Given the description of an element on the screen output the (x, y) to click on. 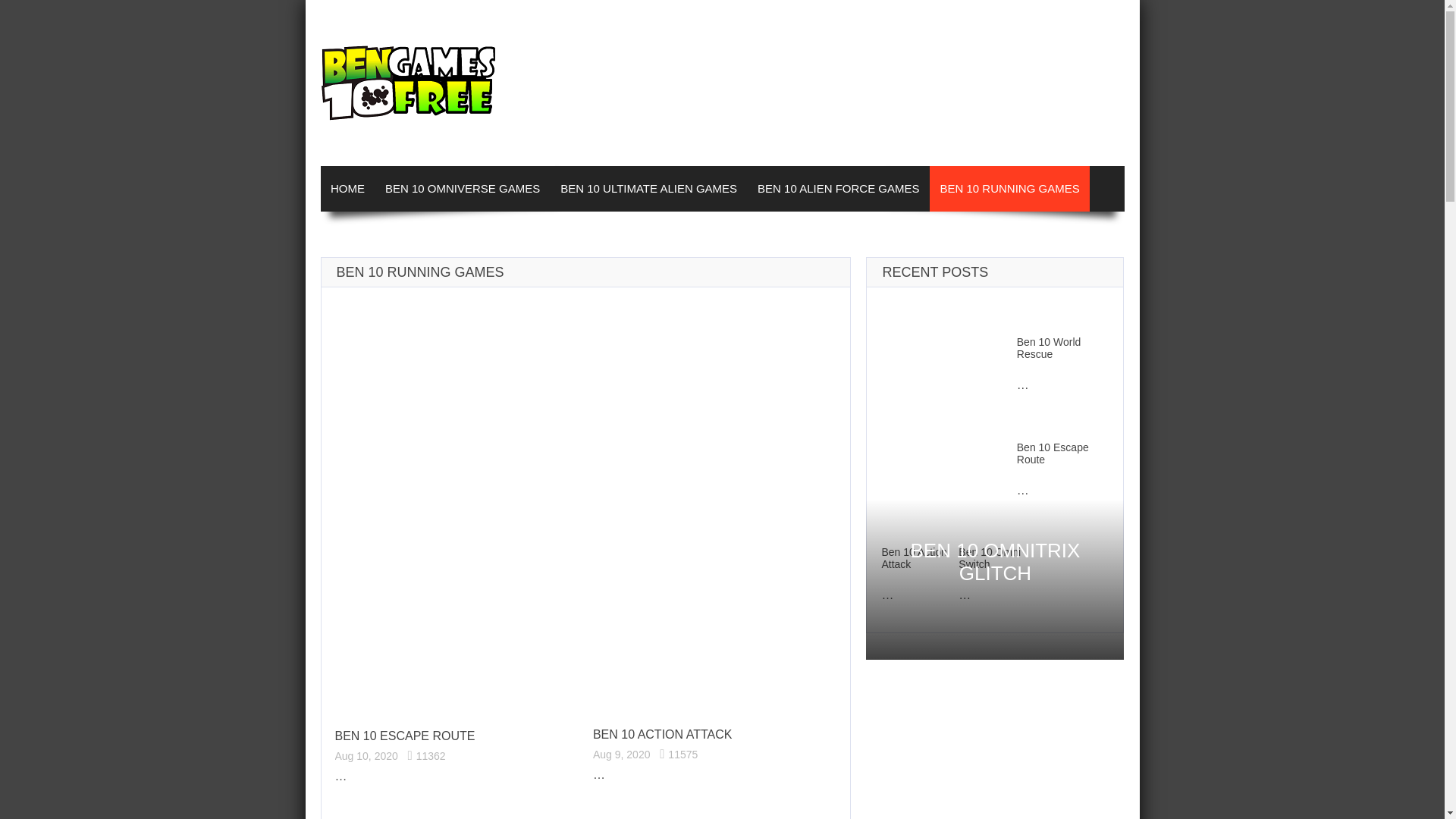
Advertisement (772, 80)
BEN 10 ALIEN FORCE GAMES (839, 188)
Ben 10 Action Attack (662, 734)
BEN 10 ULTIMATE ALIEN GAMES (649, 188)
BEN 10 OMNIVERSE GAMES (462, 188)
RECENT POSTS (935, 272)
BEN 10 ESCAPE ROUTE (405, 735)
Advertisement (585, 438)
BEN 10 RUNNING GAMES (1009, 188)
BEN 10 FIGHTING GAMES (400, 234)
